Given the description of an element on the screen output the (x, y) to click on. 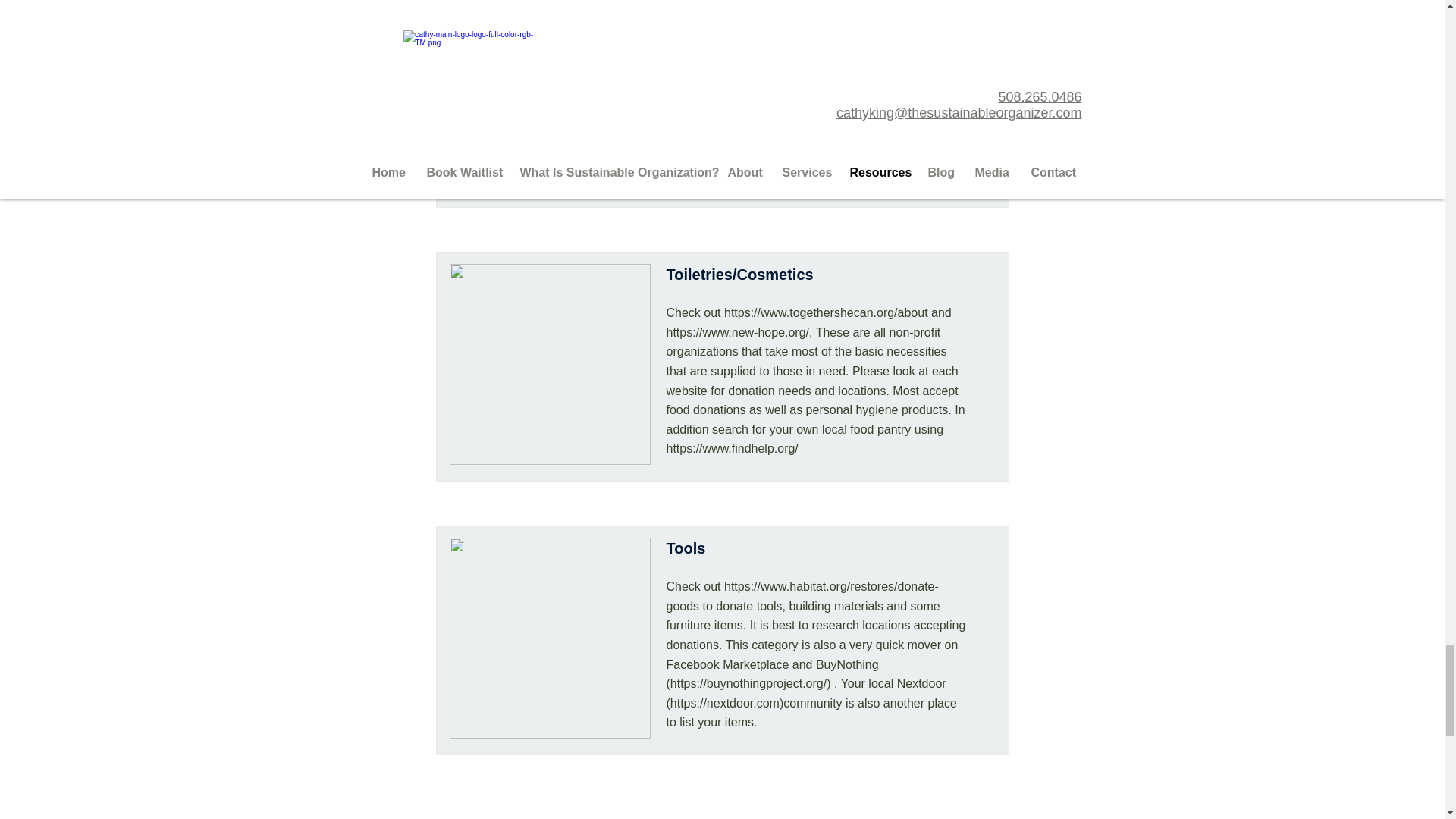
Image by Zoe Schaeffer.jpg (548, 637)
Image by david Griffiths.jpg (548, 364)
Fitness Equipments.jpg (548, 95)
